Given the description of an element on the screen output the (x, y) to click on. 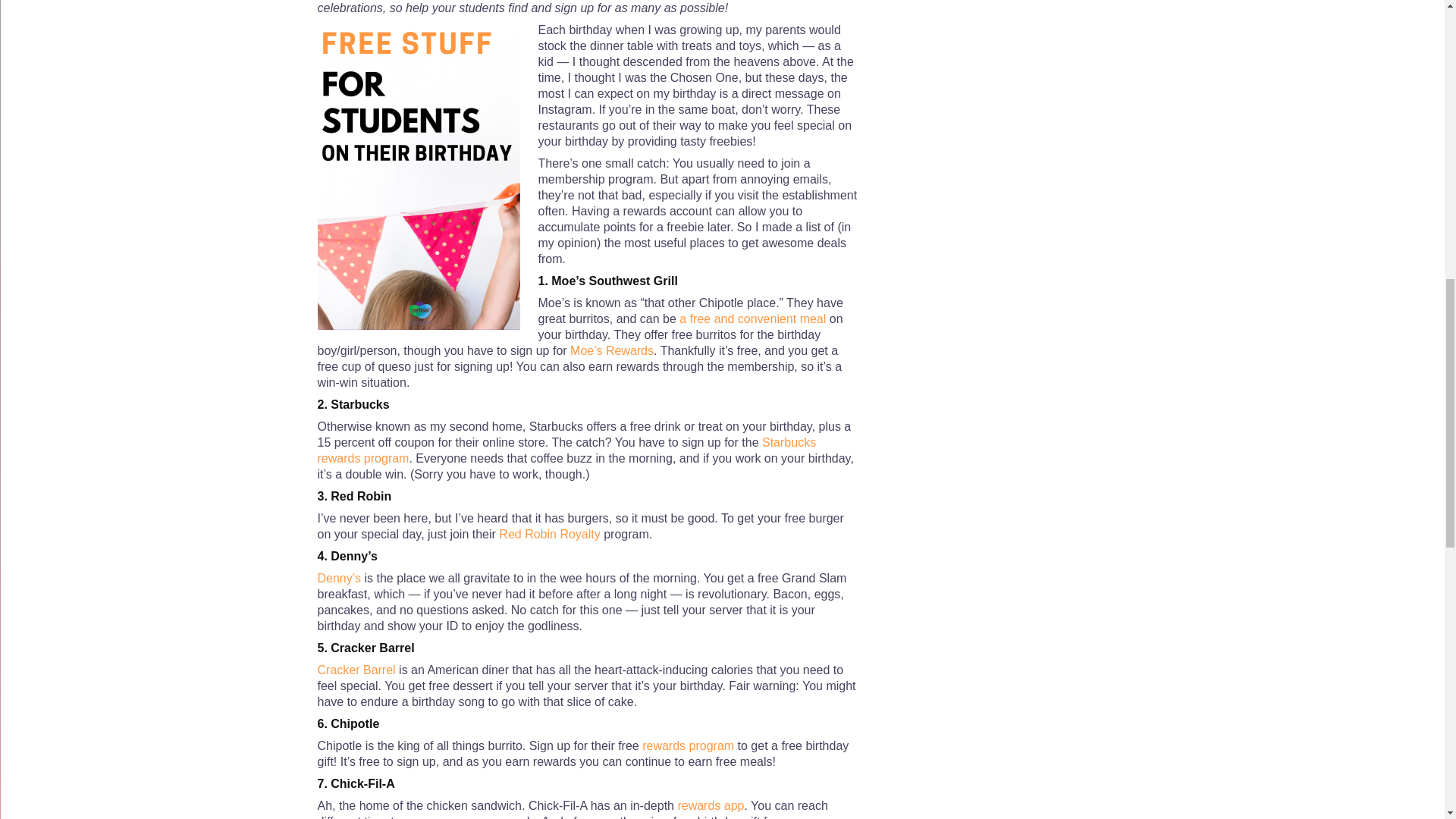
a free and convenient meal (751, 318)
